Given the description of an element on the screen output the (x, y) to click on. 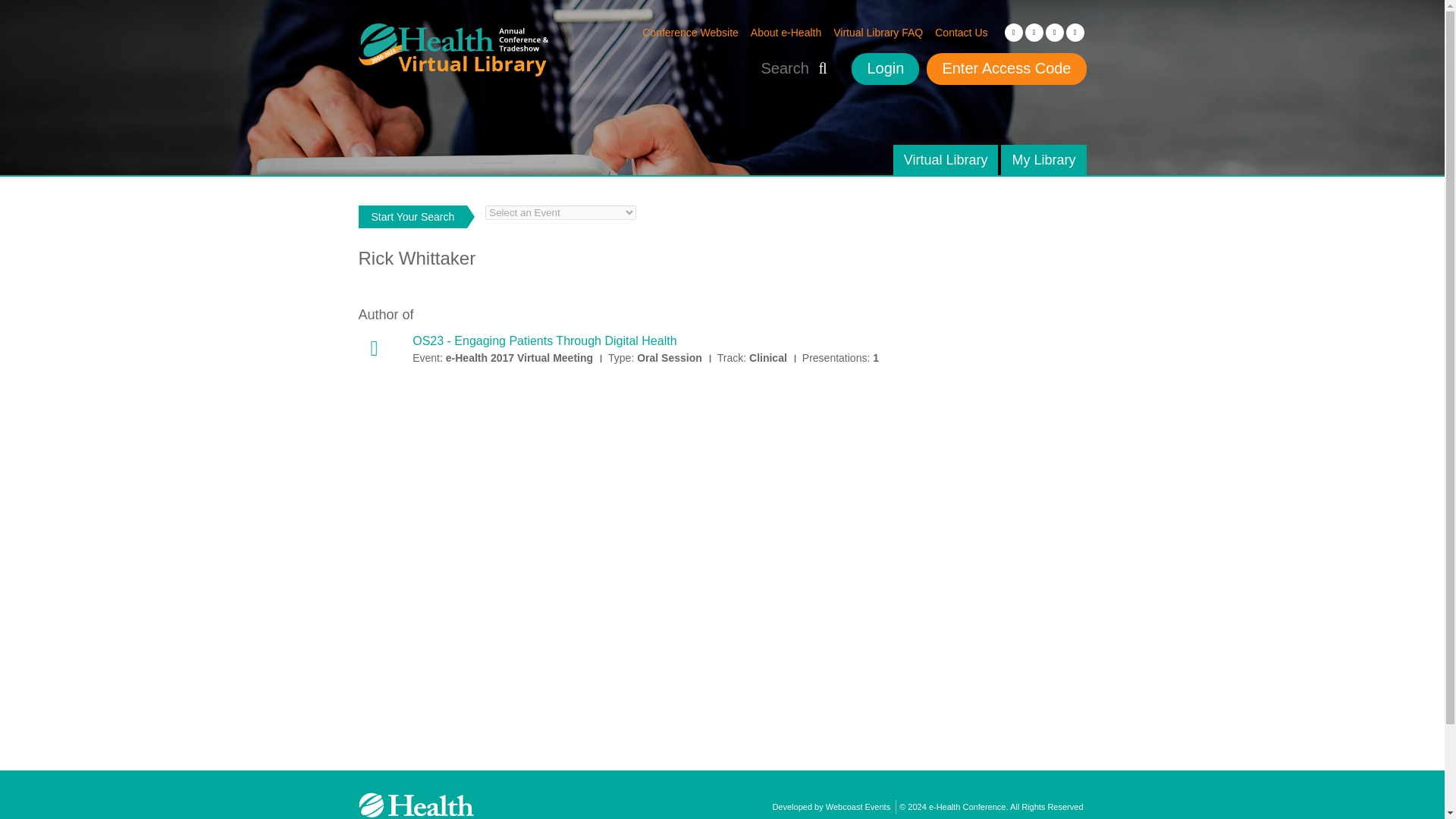
About e-Health (785, 32)
Login (884, 69)
Enter (27, 11)
Contact Us (960, 32)
My Library (1043, 159)
Conference Website (689, 32)
Virtual Library FAQ (877, 32)
Enter Access Code (1006, 69)
Virtual Library (945, 159)
